Given the description of an element on the screen output the (x, y) to click on. 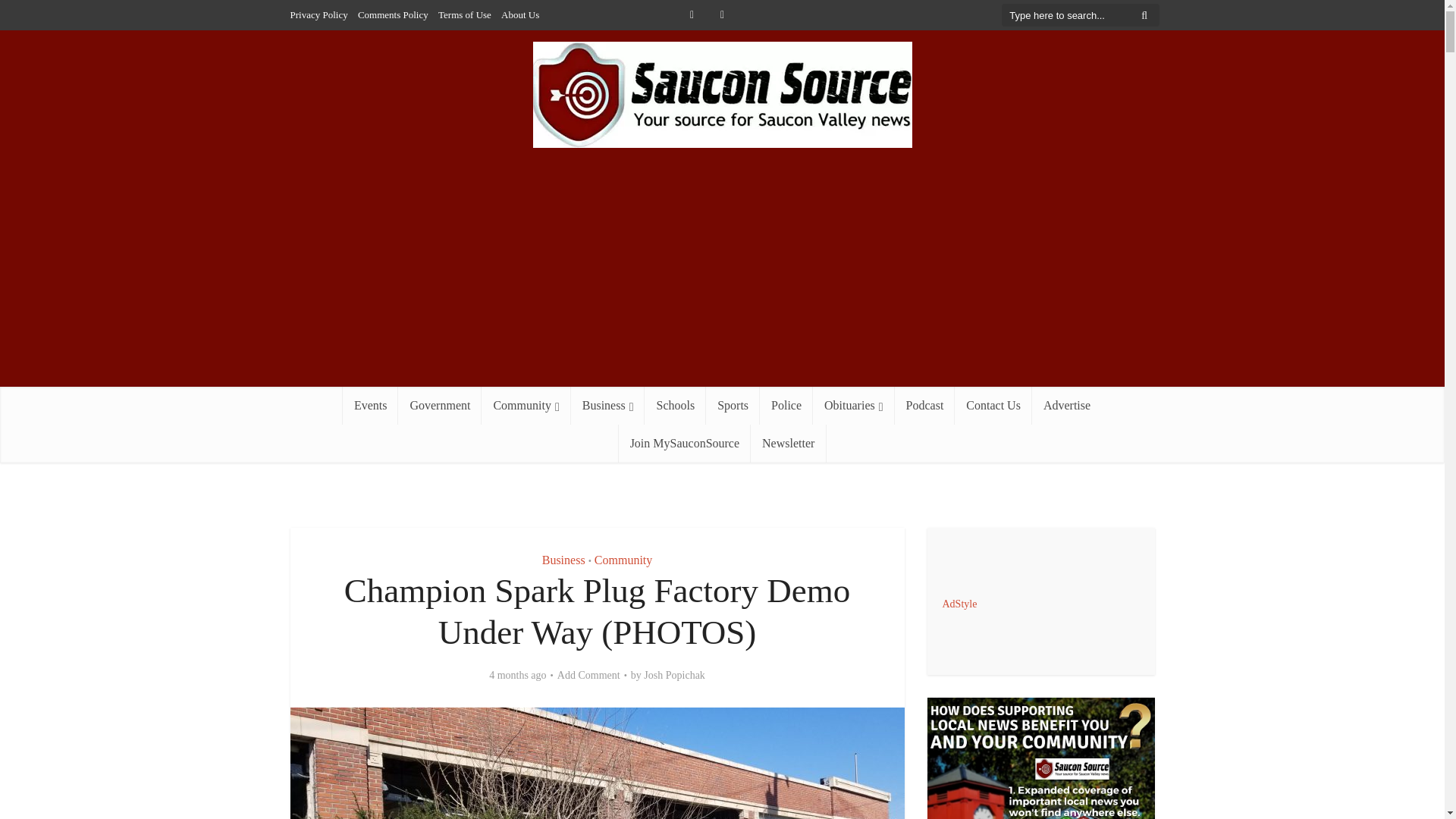
Contact Us (993, 405)
Type here to search... (1079, 15)
Obituaries (853, 405)
Schools (675, 405)
Newsletter (788, 443)
Podcast (925, 405)
Type here to search... (1079, 15)
Josh Popichak (673, 675)
Join MySauconSource (684, 443)
Saucon Source (721, 94)
Add Comment (588, 675)
About Us (519, 14)
Business (607, 405)
Events (370, 405)
